Given the description of an element on the screen output the (x, y) to click on. 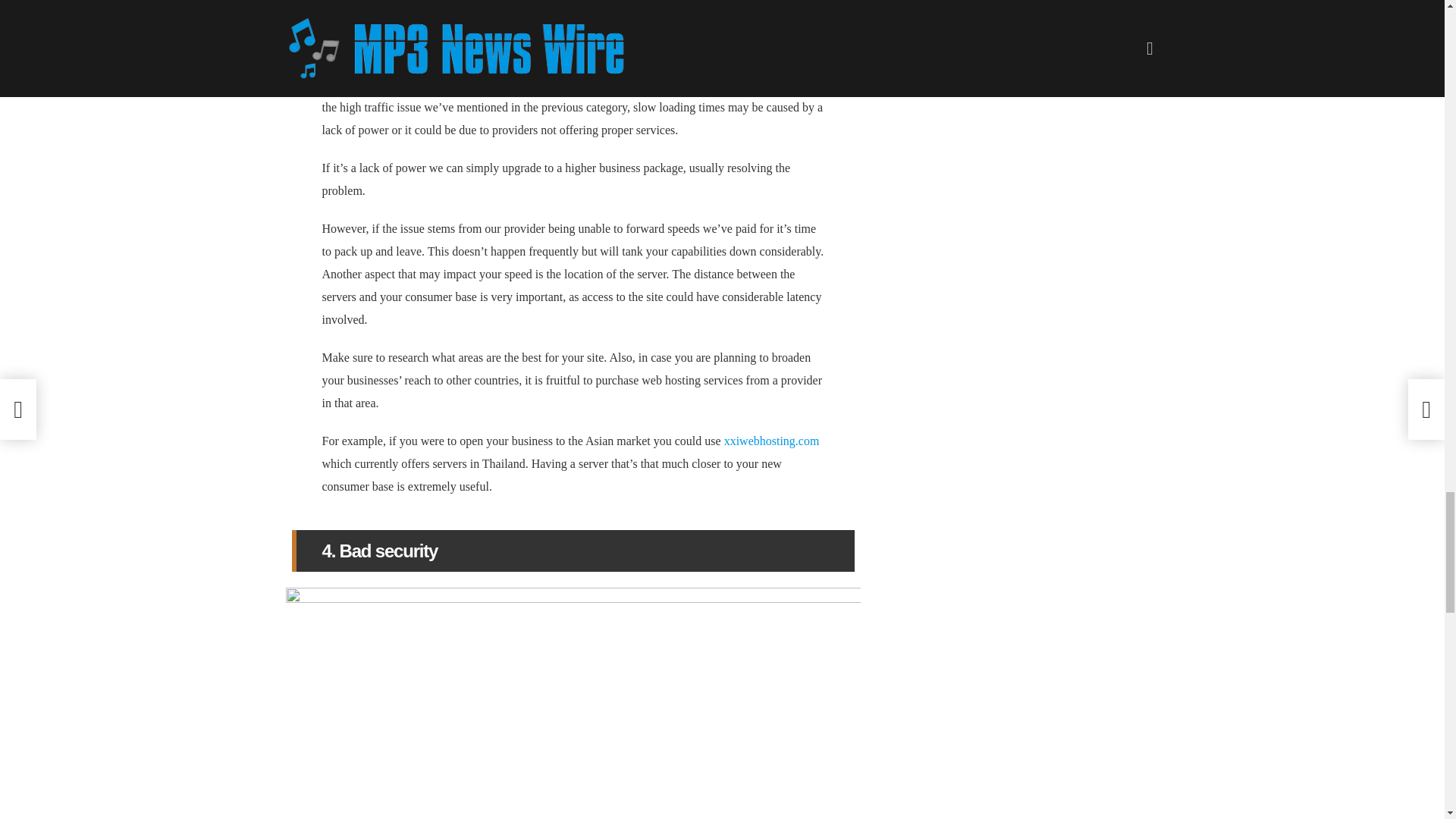
xxiwebhosting.com (771, 440)
